Given the description of an element on the screen output the (x, y) to click on. 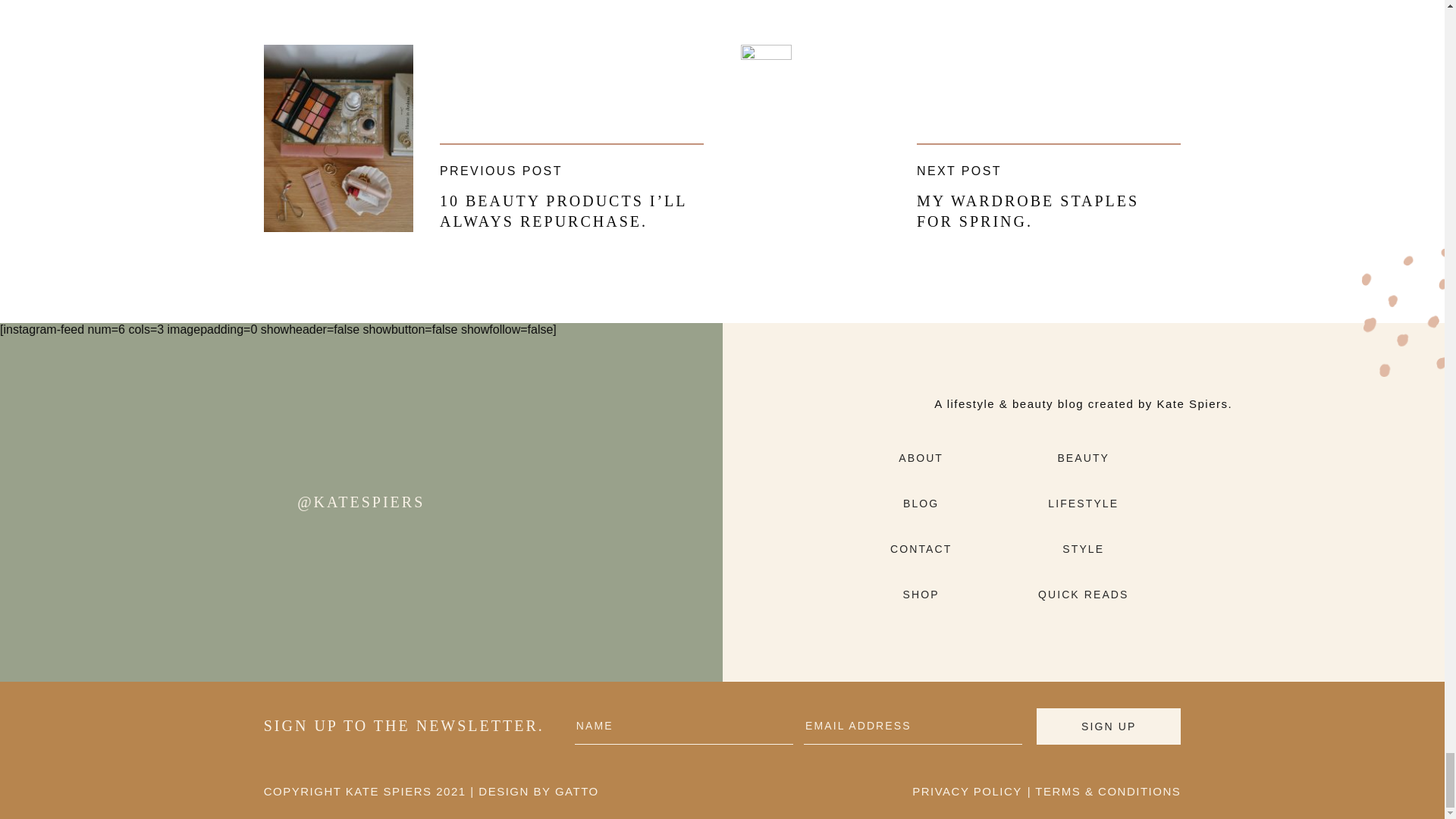
Sign Up (1108, 726)
